Given the description of an element on the screen output the (x, y) to click on. 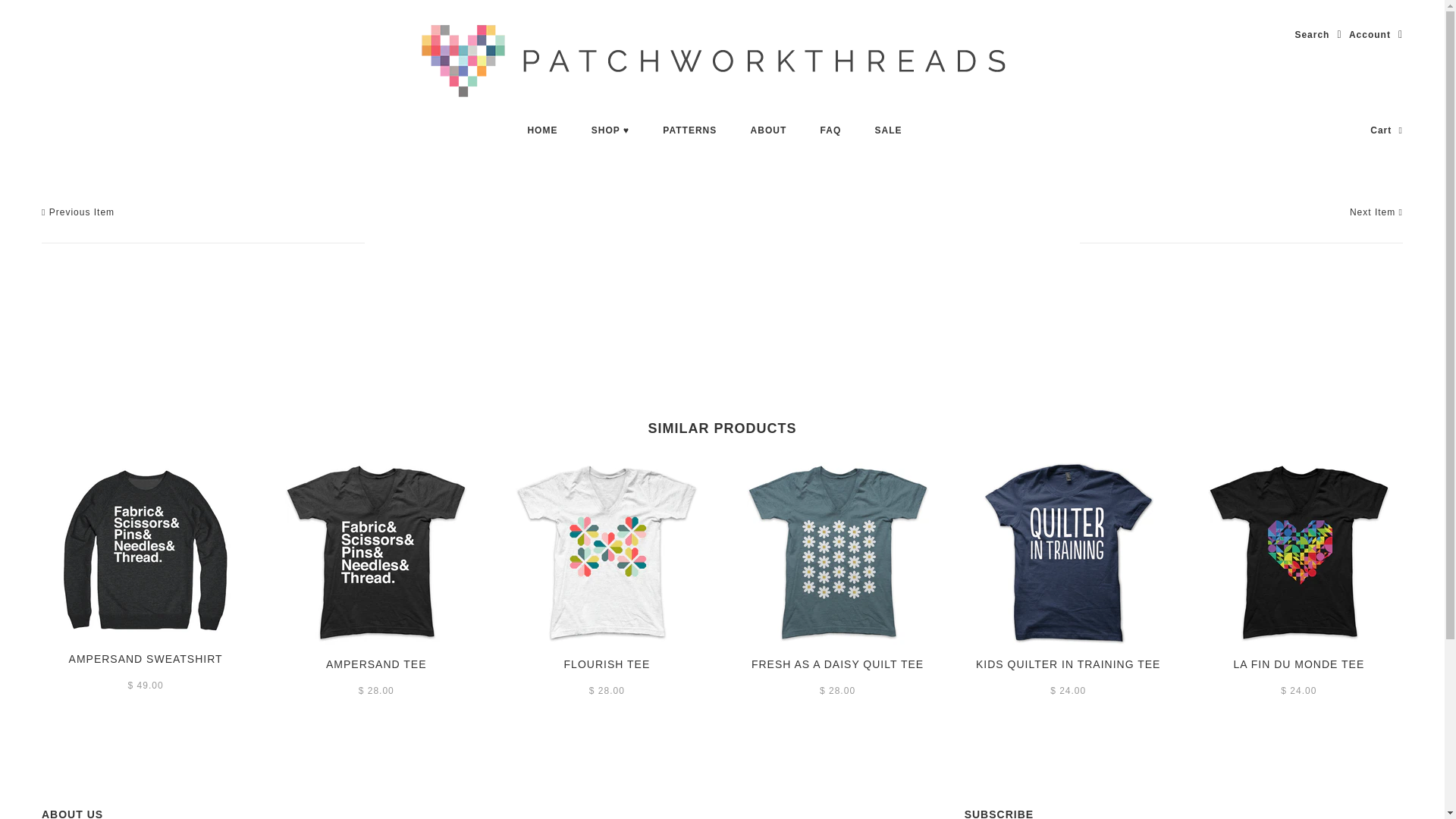
Next Product (1376, 212)
HOME (542, 130)
Cart (1386, 130)
SALE (888, 130)
FAQ (831, 130)
Account (1376, 34)
PATTERNS (689, 130)
Search (1317, 34)
Previous Product (78, 212)
Patchwork Threads (722, 60)
ABOUT (768, 130)
